Given the description of an element on the screen output the (x, y) to click on. 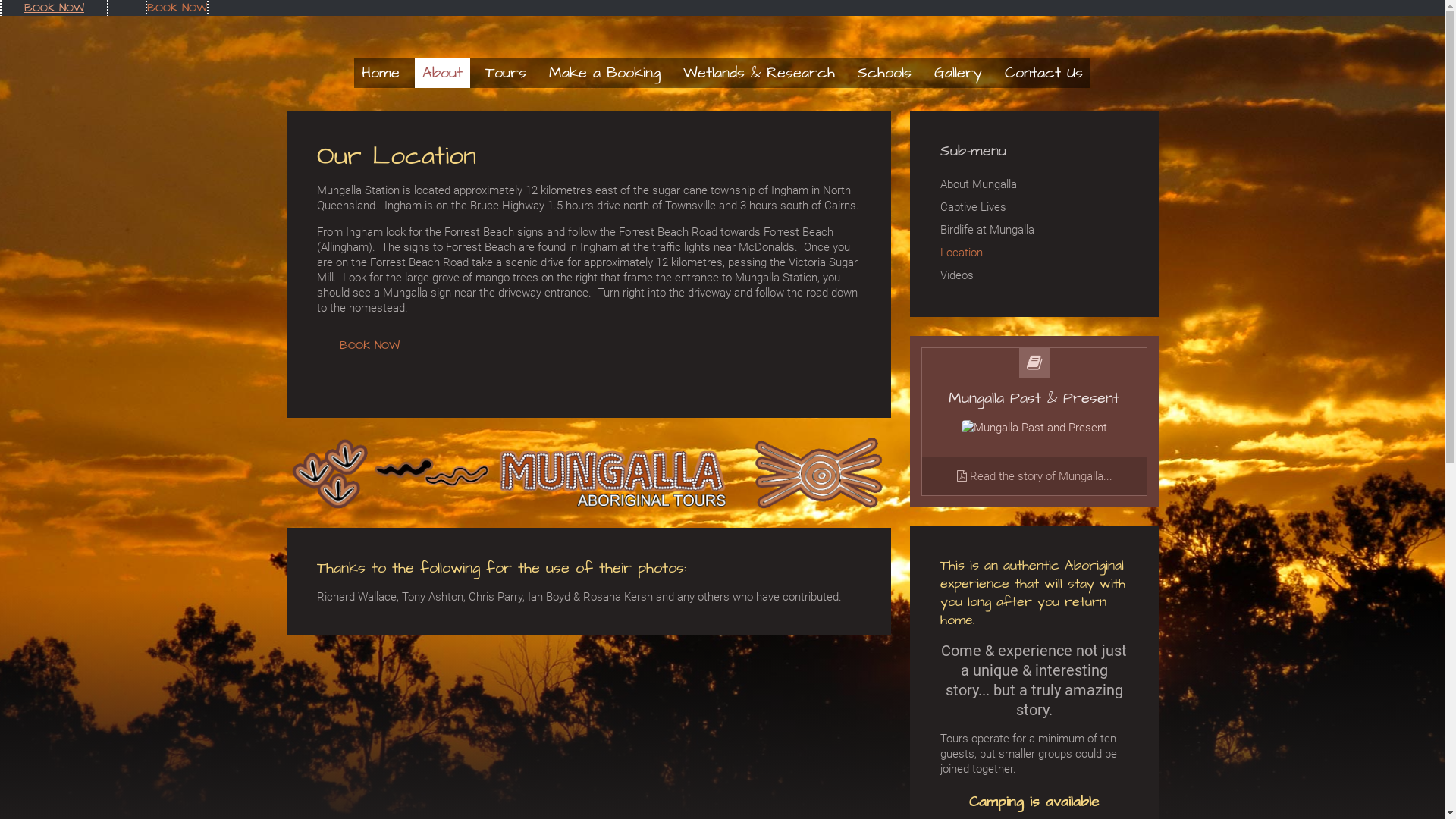
Tours Element type: text (505, 72)
Contact Us Element type: text (1043, 72)
BOOK NOW Element type: text (369, 345)
Location Element type: text (1034, 252)
Wetlands & Research Element type: text (758, 72)
Birdlife at Mungalla Element type: text (1034, 229)
Captive Lives Element type: text (1034, 206)
About Element type: text (442, 72)
About Mungalla Element type: text (1034, 183)
Make a Booking Element type: text (604, 72)
Gallery Element type: text (957, 72)
Schools Element type: text (884, 72)
Read the story of Mungalla... Element type: text (1034, 476)
Home Element type: text (380, 72)
Videos Element type: text (1034, 274)
